Given the description of an element on the screen output the (x, y) to click on. 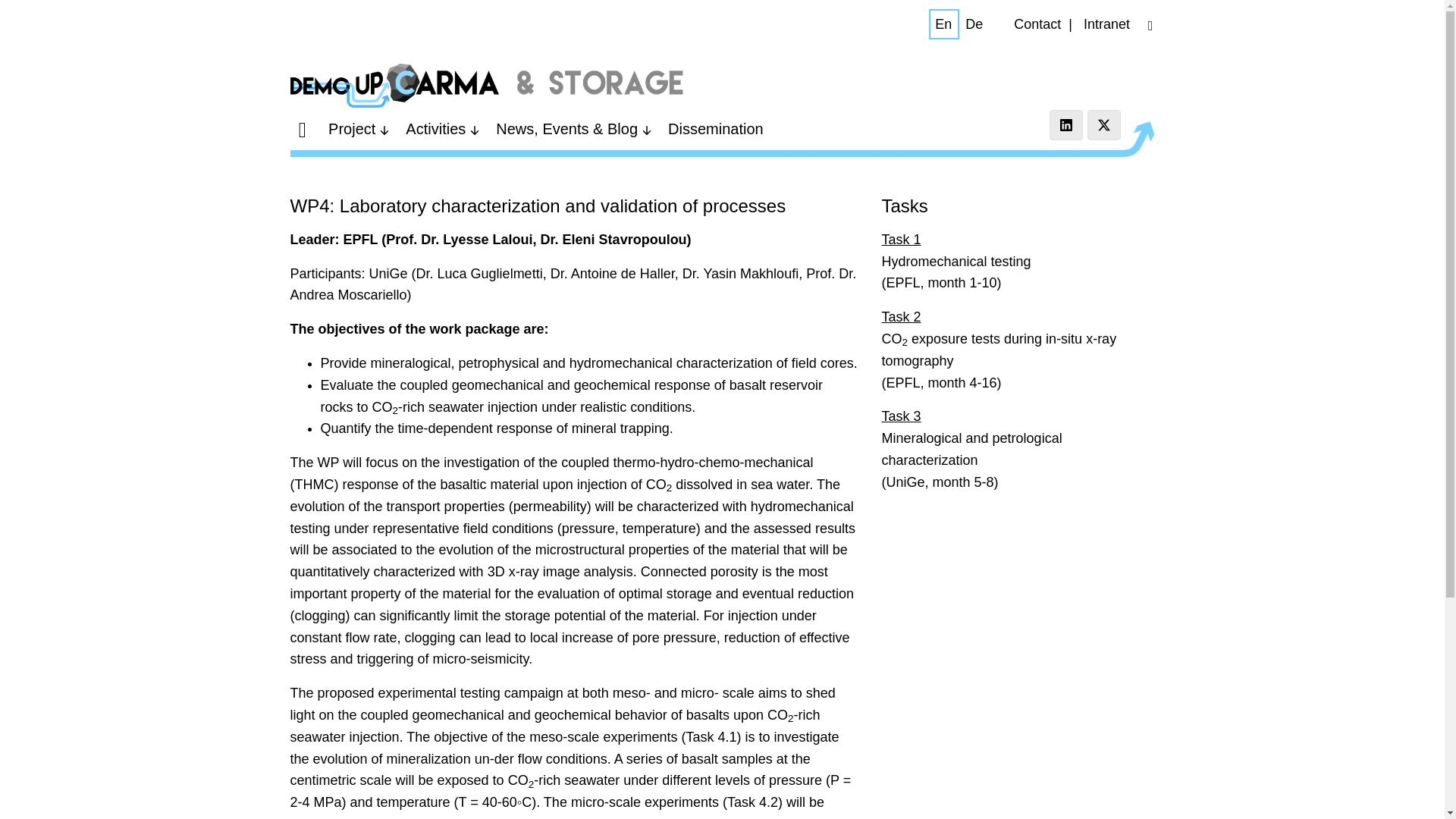
linkedin (1066, 124)
Project (359, 128)
De (974, 24)
Dissemination (716, 128)
Contact (1037, 23)
Activities (443, 128)
Deutsch (974, 24)
En (943, 24)
Homepage (486, 84)
Intranet (1106, 23)
